Given the description of an element on the screen output the (x, y) to click on. 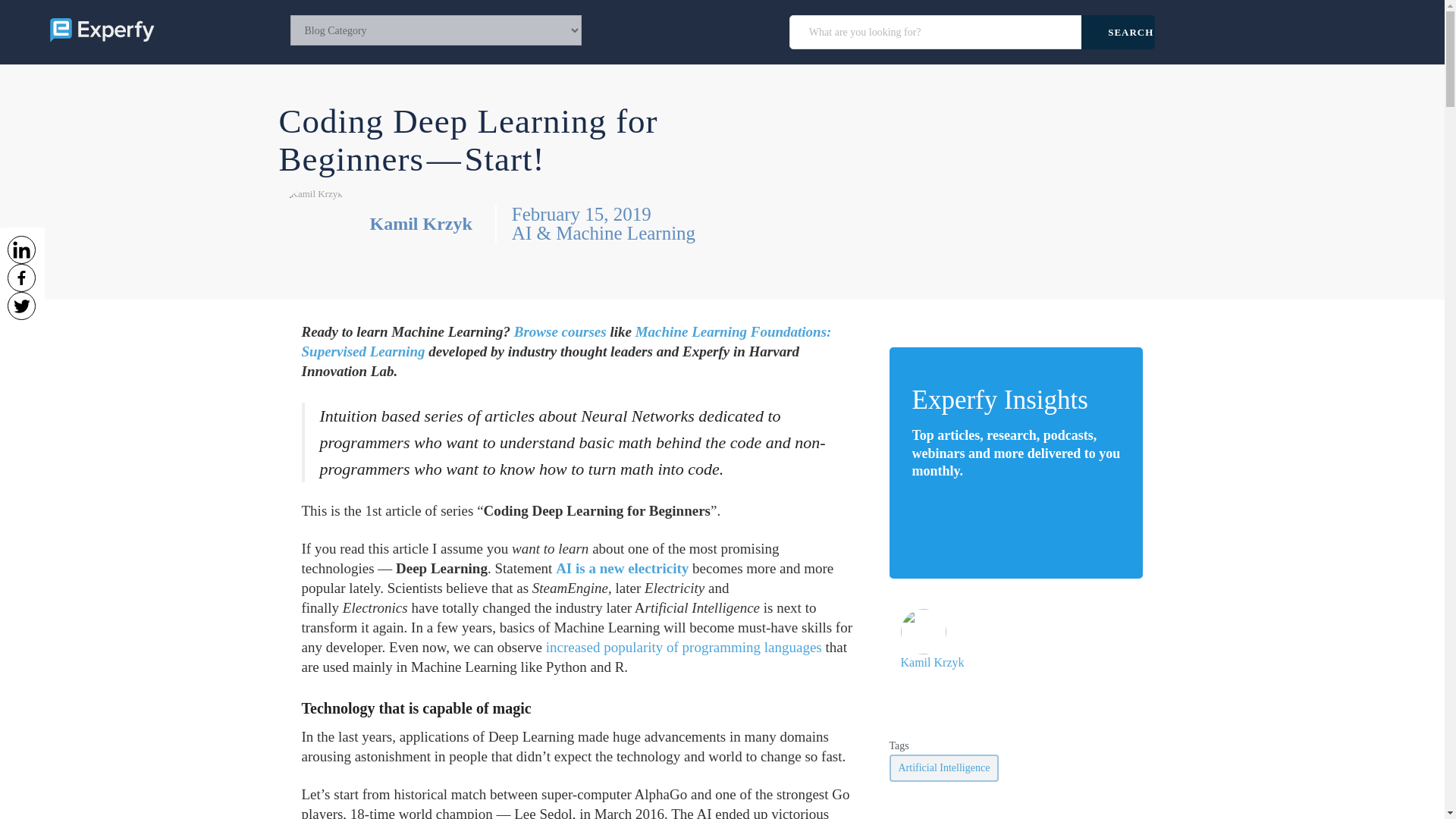
Machine Learning Foundations: Supervised Learning (566, 341)
February 15, 2019 (603, 213)
Linkedin (20, 249)
Kamil Krzyk (420, 223)
Facebook (20, 277)
Search (1117, 32)
Search (1117, 32)
increased popularity of programming languages  (685, 647)
Twitter (20, 305)
Search for: (936, 32)
